Given the description of an element on the screen output the (x, y) to click on. 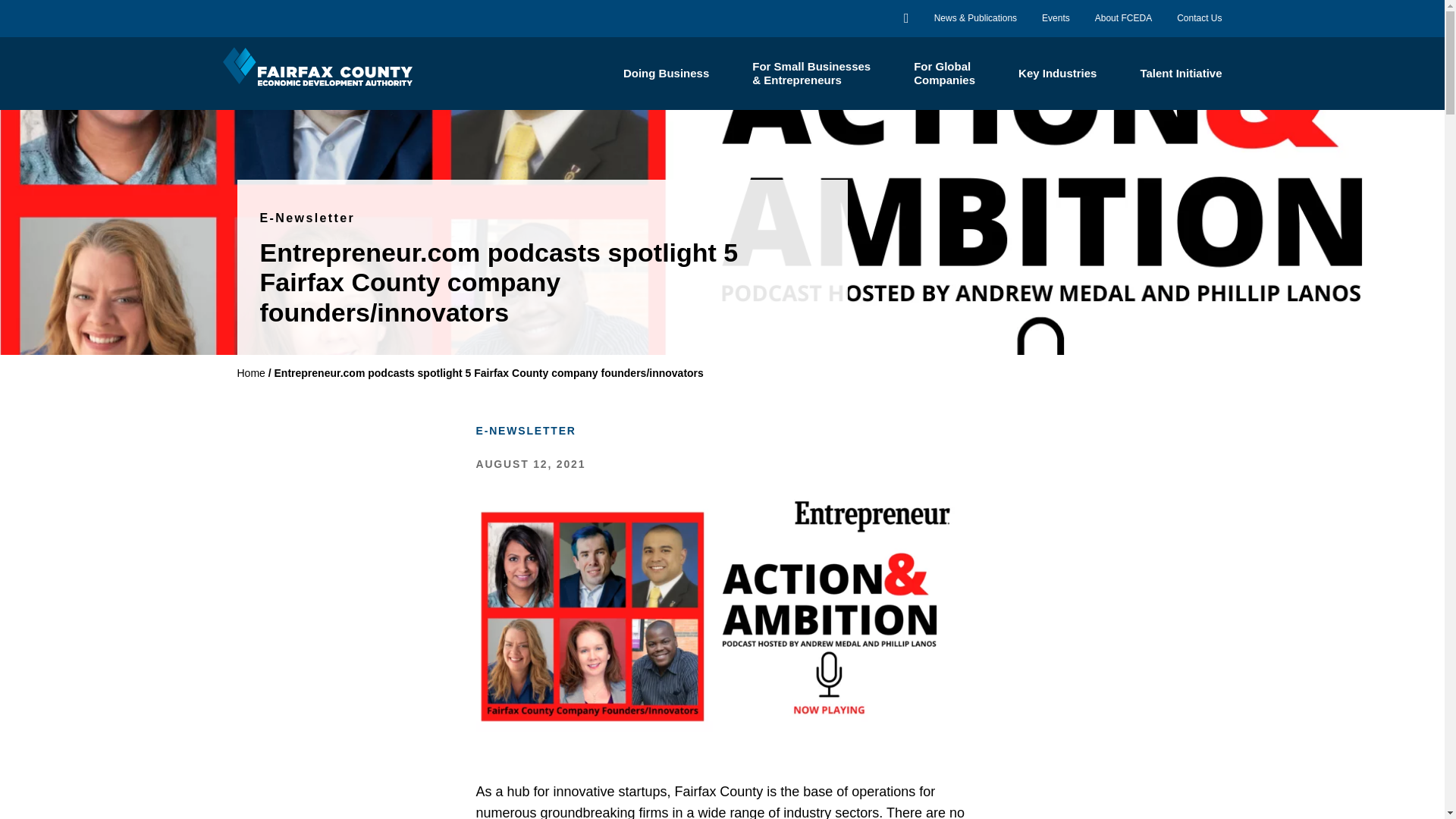
Doing Business (666, 72)
Events (1056, 18)
Key Industries (1056, 72)
Contact Us (1198, 18)
About FCEDA (944, 72)
